Given the description of an element on the screen output the (x, y) to click on. 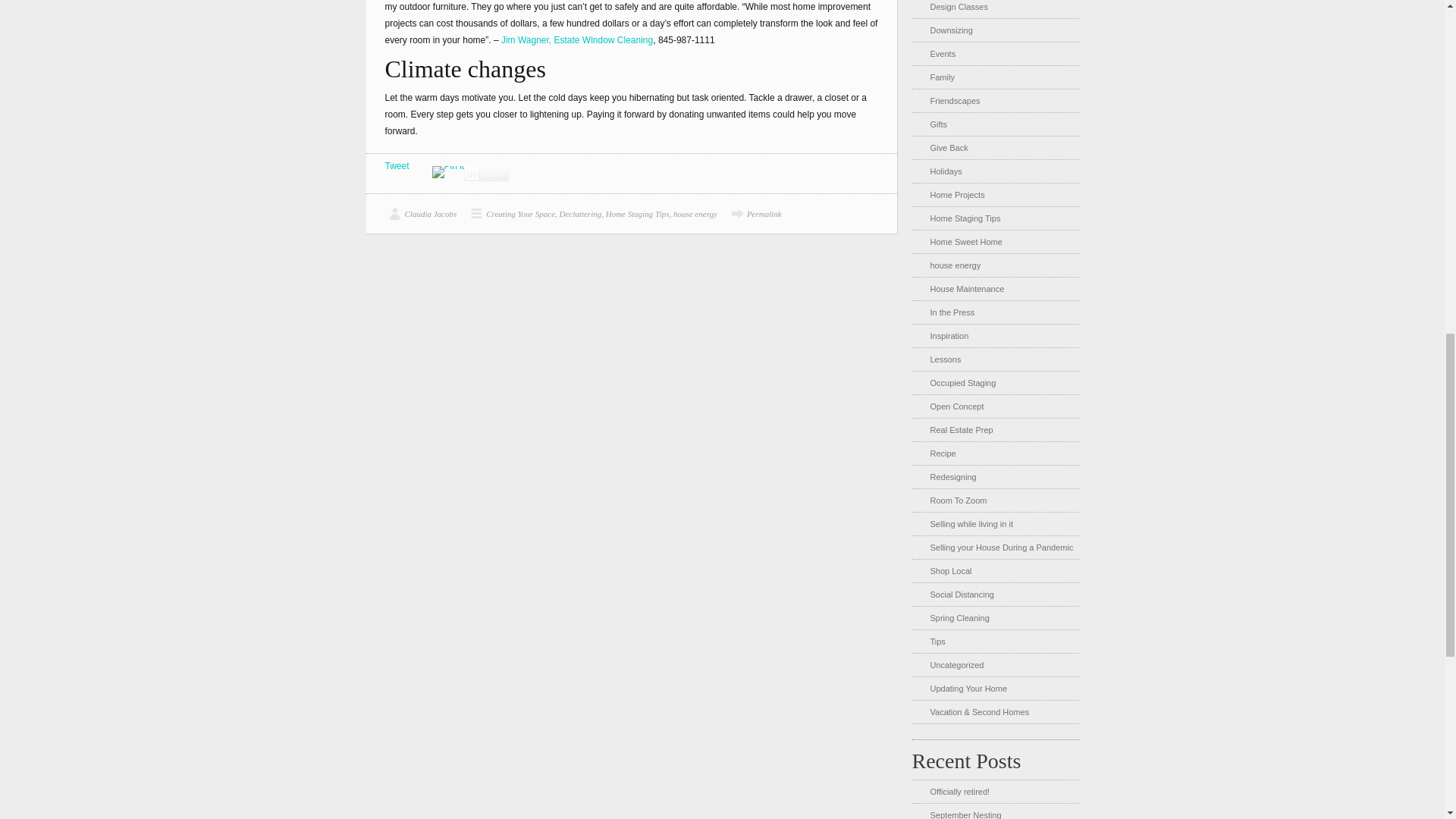
Jim Wagner, Estate Window Cleaning (576, 40)
Tweet (397, 165)
Home Staging Tips (637, 213)
house energy (694, 213)
Claudia Jacobs (421, 213)
Share (486, 173)
Events (942, 53)
Creating Your Space (509, 213)
Downsizing (951, 30)
Claudia Jacobs (421, 213)
Permalink (753, 213)
Design Classes (958, 6)
Decluttering (580, 213)
Friendscapes (954, 100)
Pin it (448, 172)
